Given the description of an element on the screen output the (x, y) to click on. 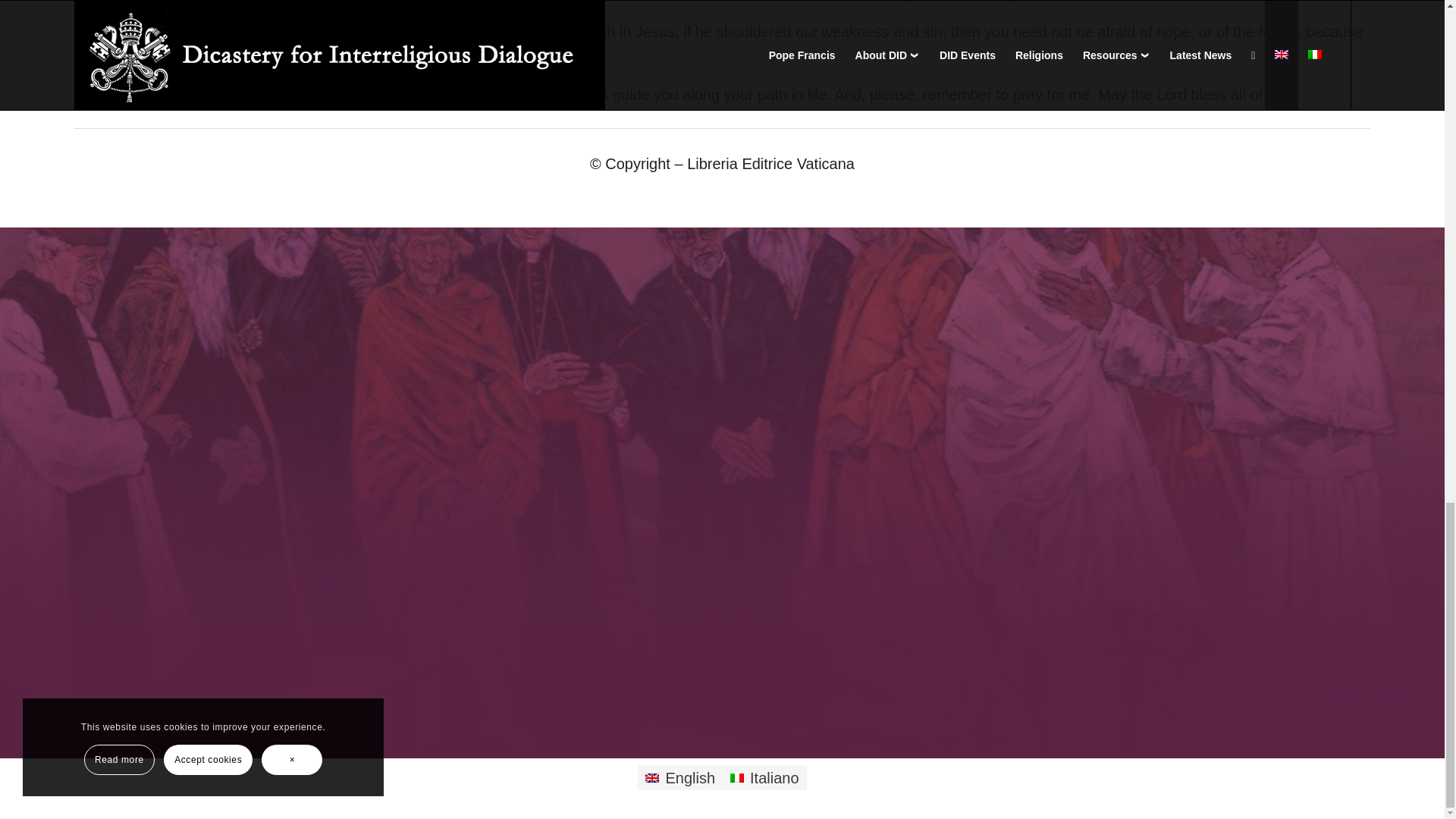
English (679, 777)
